Given the description of an element on the screen output the (x, y) to click on. 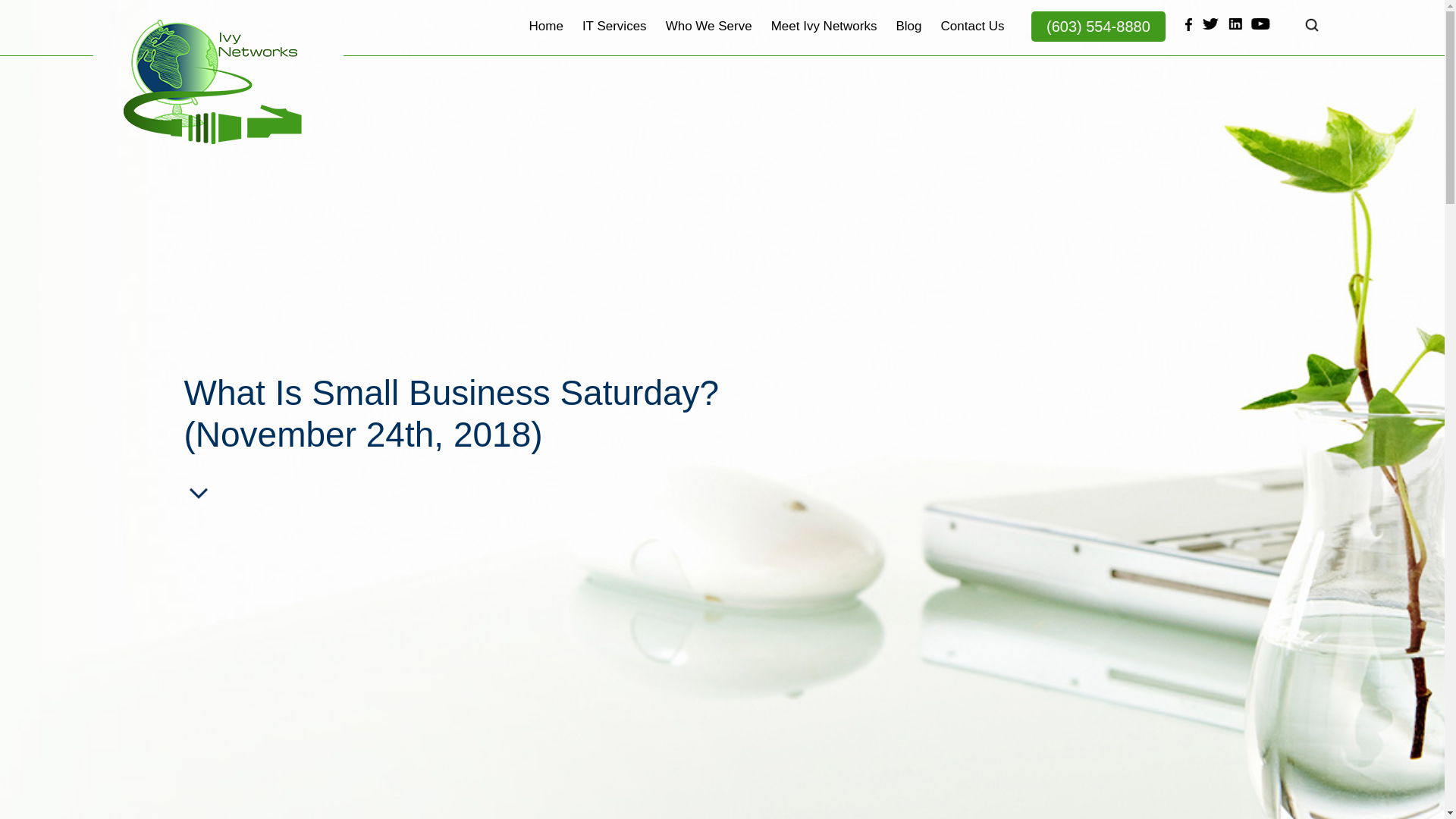
IT Services (614, 37)
Youtube (1260, 24)
Contact Us (972, 37)
Facebook (1185, 24)
Home (546, 37)
Linkedin (1235, 24)
Who We Serve (708, 37)
Meet Ivy Networks (824, 37)
Twitter (1211, 24)
